Given the description of an element on the screen output the (x, y) to click on. 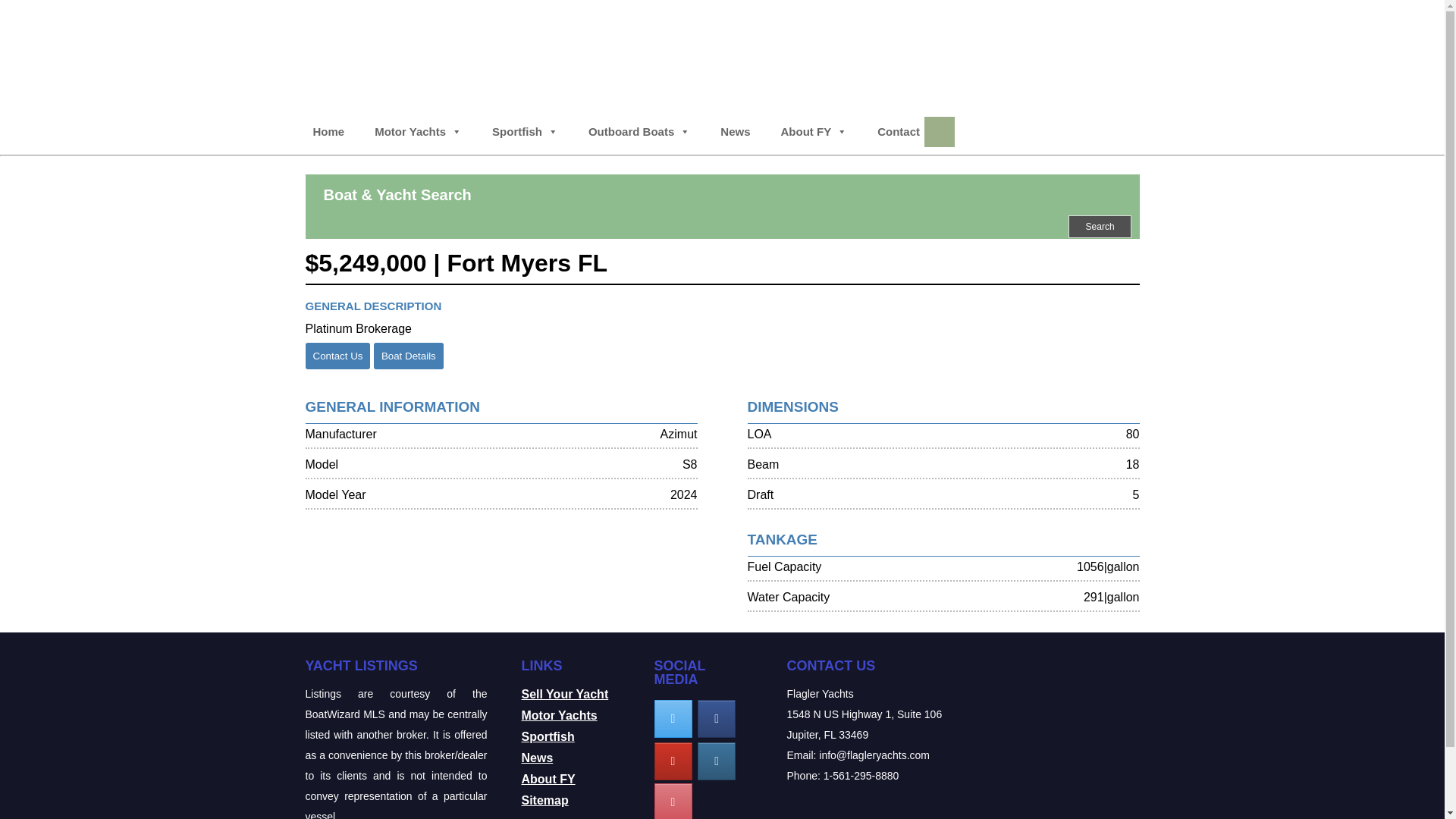
Outboard Boats (638, 132)
Sportfish (525, 132)
Motor Yachts (417, 132)
Search (1099, 226)
Home (328, 132)
Used Motor Yachts for Sale (417, 132)
